Given the description of an element on the screen output the (x, y) to click on. 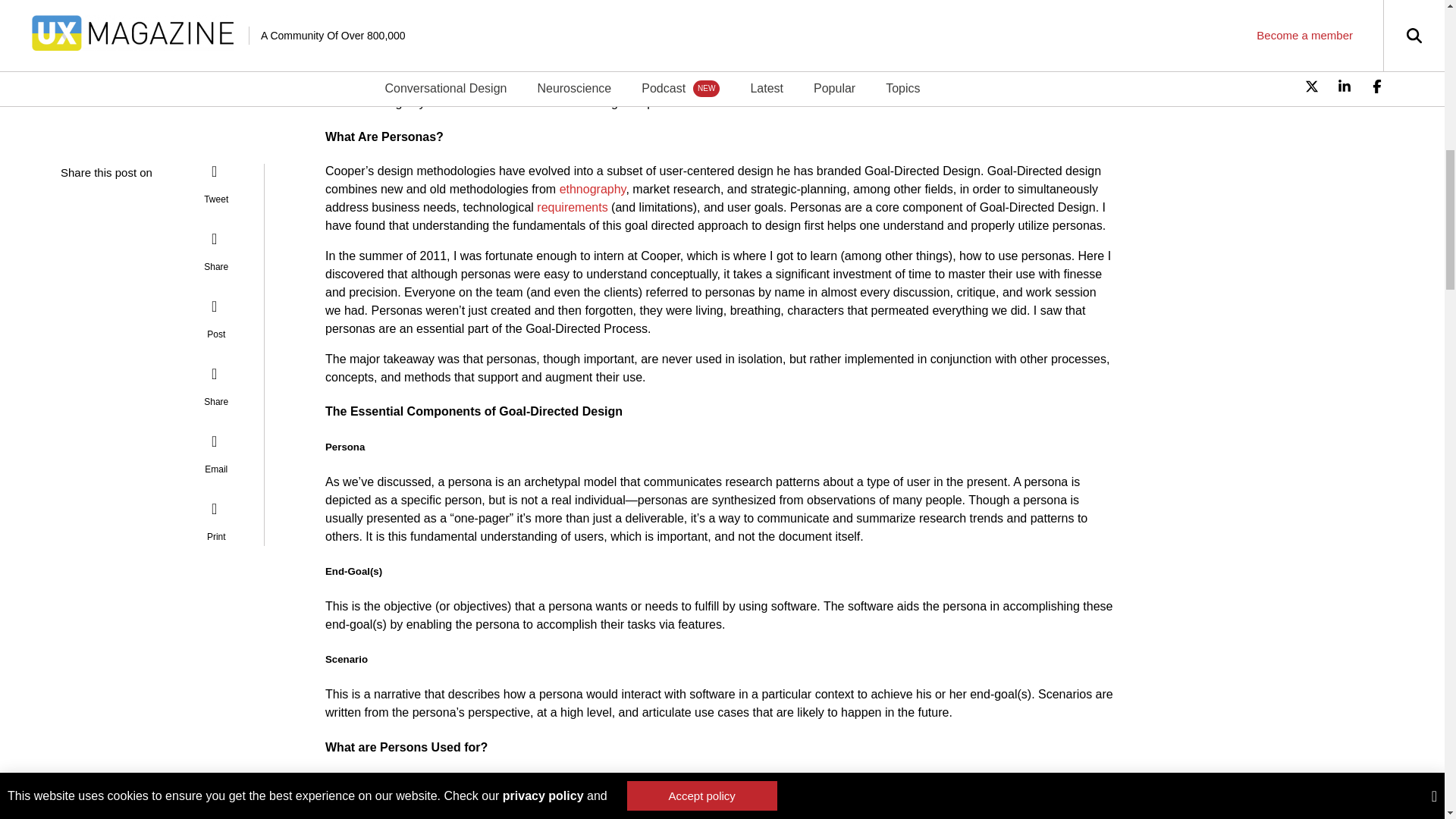
ethnography (592, 188)
inform and persuade clients (977, 47)
requirements (572, 206)
